Given the description of an element on the screen output the (x, y) to click on. 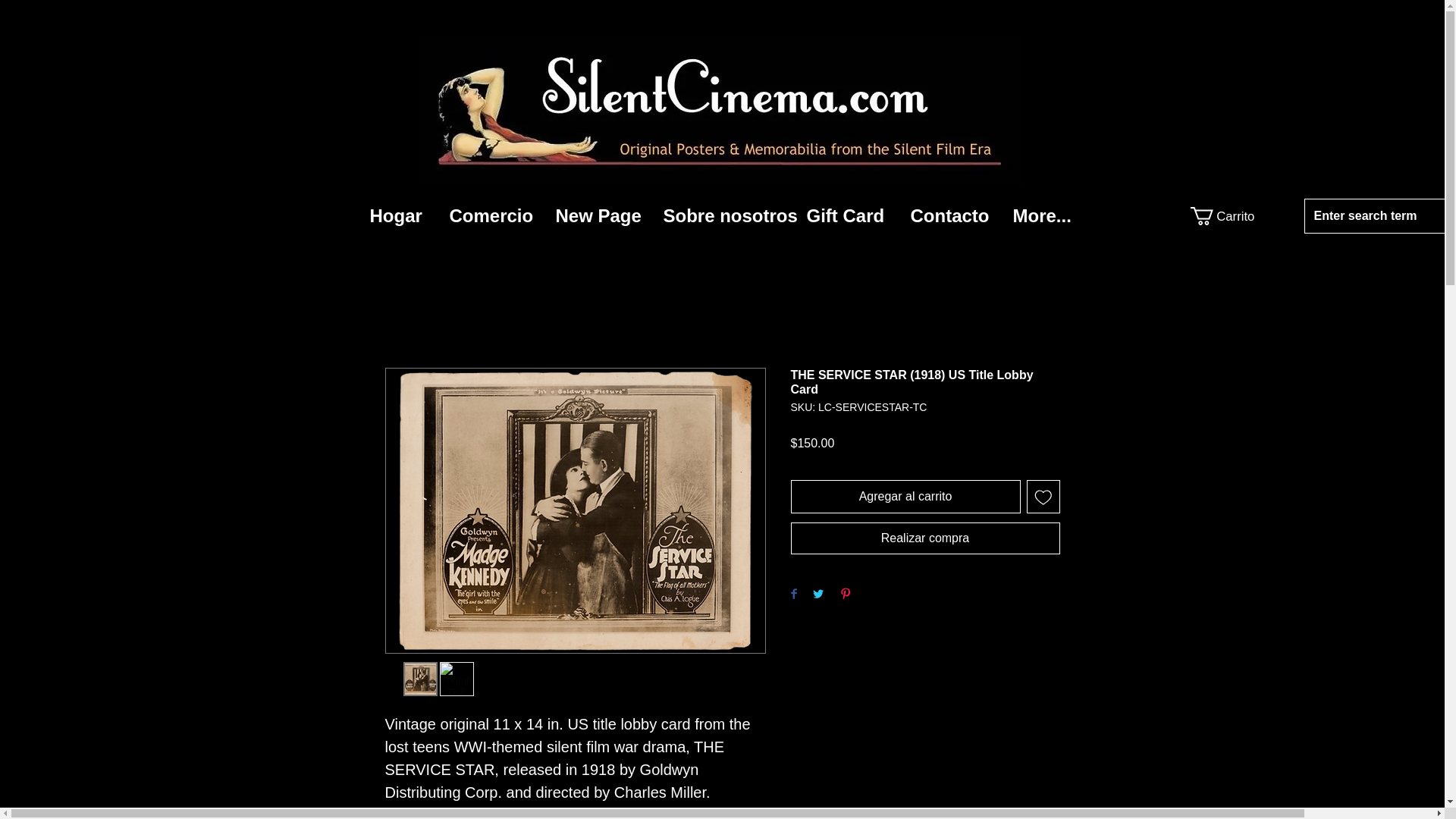
Carrito (1224, 216)
Comercio (491, 215)
Carrito (1224, 216)
Contacto (950, 215)
Hogar (398, 215)
Sobre nosotros (723, 215)
New Page (598, 215)
Agregar al carrito (905, 496)
Gift Card (846, 215)
SilentCinema.com Logo (720, 110)
Realizar compra (924, 538)
